Given the description of an element on the screen output the (x, y) to click on. 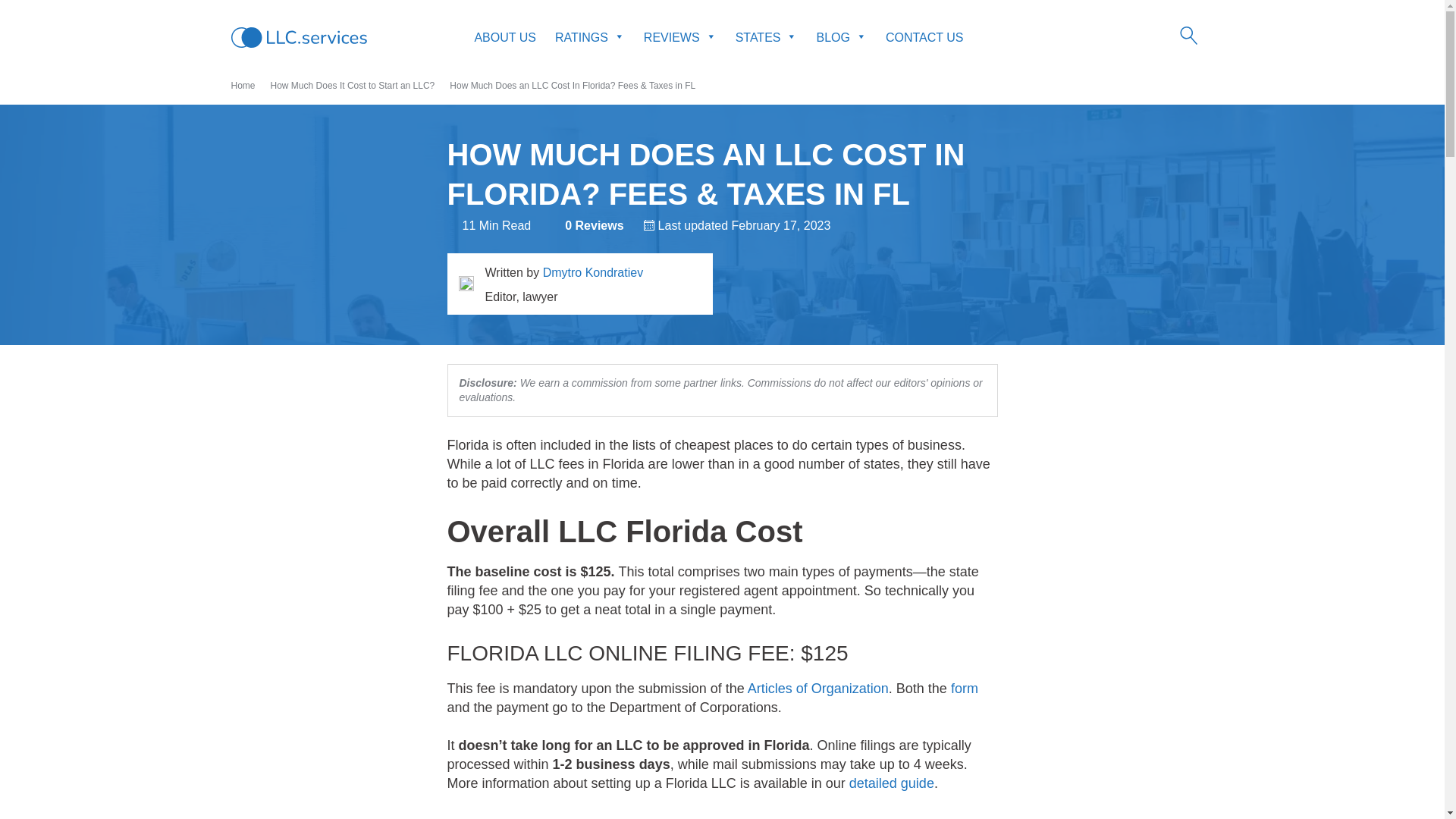
RATINGS (589, 37)
ABOUT US (504, 37)
STATES (766, 37)
REVIEWS (679, 37)
